Given the description of an element on the screen output the (x, y) to click on. 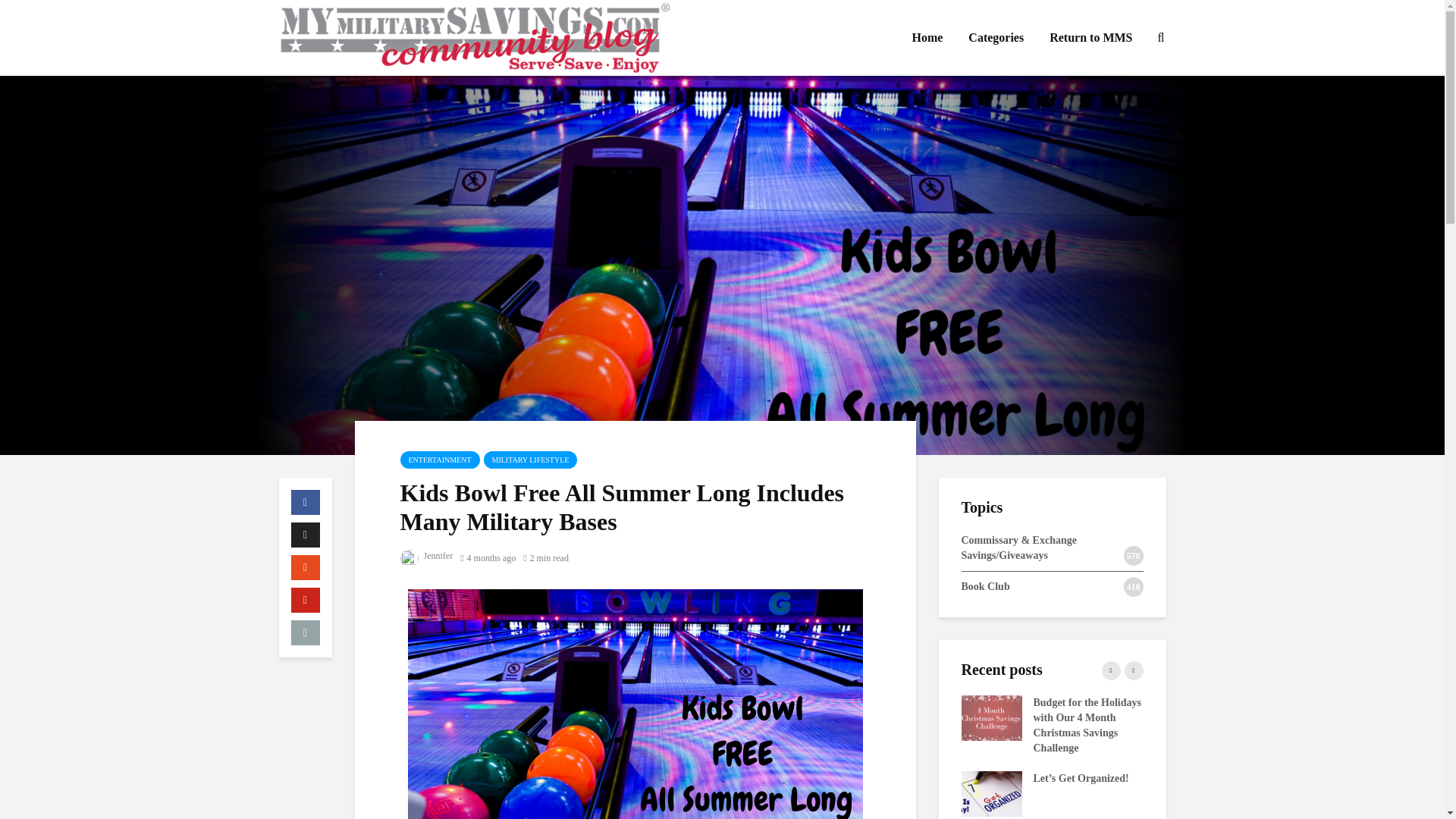
Exciting News for Pet Owners at the Commissary! (627, 777)
Jennifer (426, 555)
Commissary Rewards Card (809, 716)
Exciting News for Pet Owners at the Commissary! (1173, 777)
Home (926, 37)
Tips for a Successfully Organized Garage Sale (627, 716)
Commissary Rewards Card (1355, 716)
ENTERTAINMENT (440, 459)
MILITARY LIFESTYLE (530, 459)
